Given the description of an element on the screen output the (x, y) to click on. 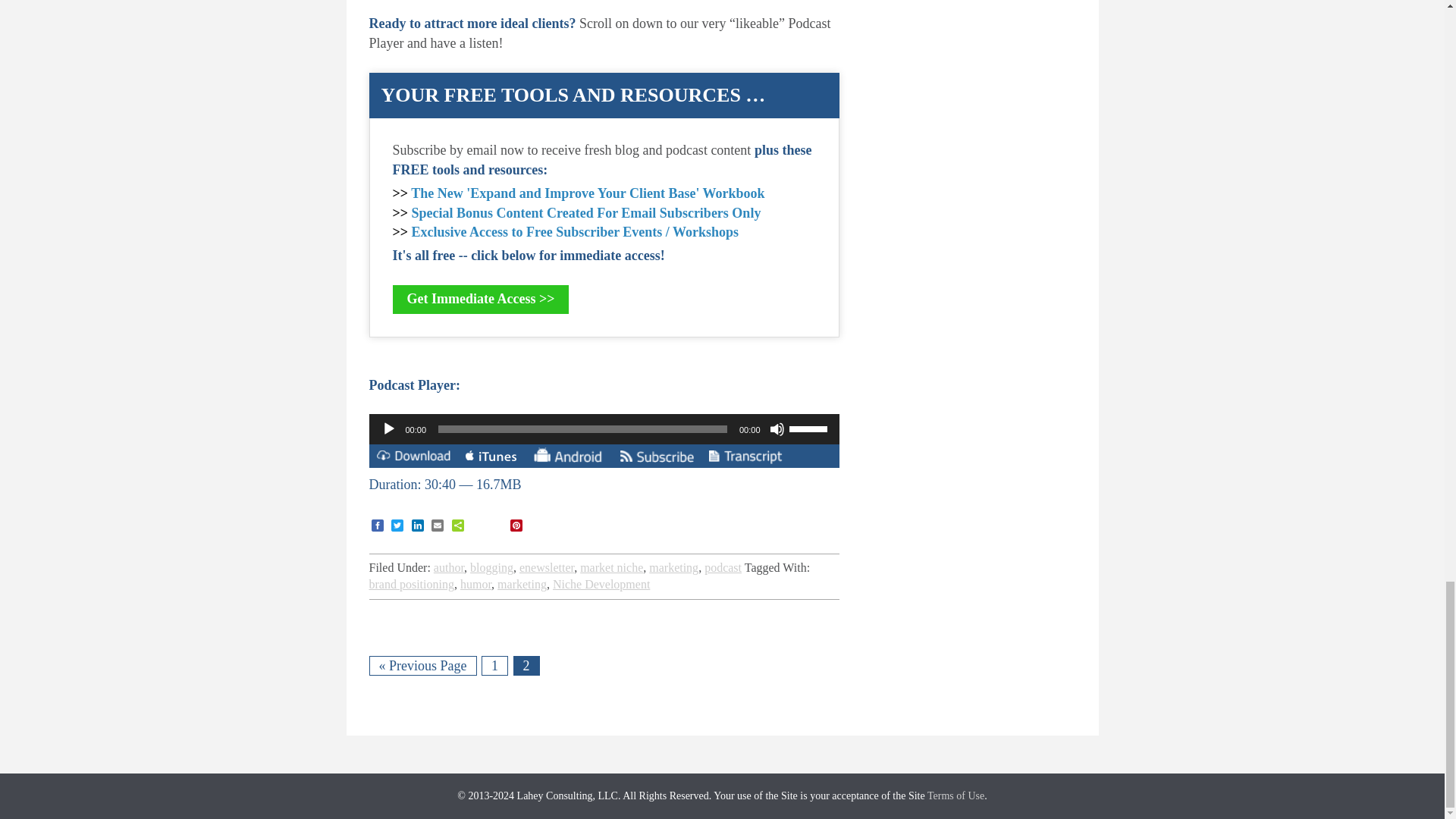
Mute (776, 428)
Play (388, 428)
